Given the description of an element on the screen output the (x, y) to click on. 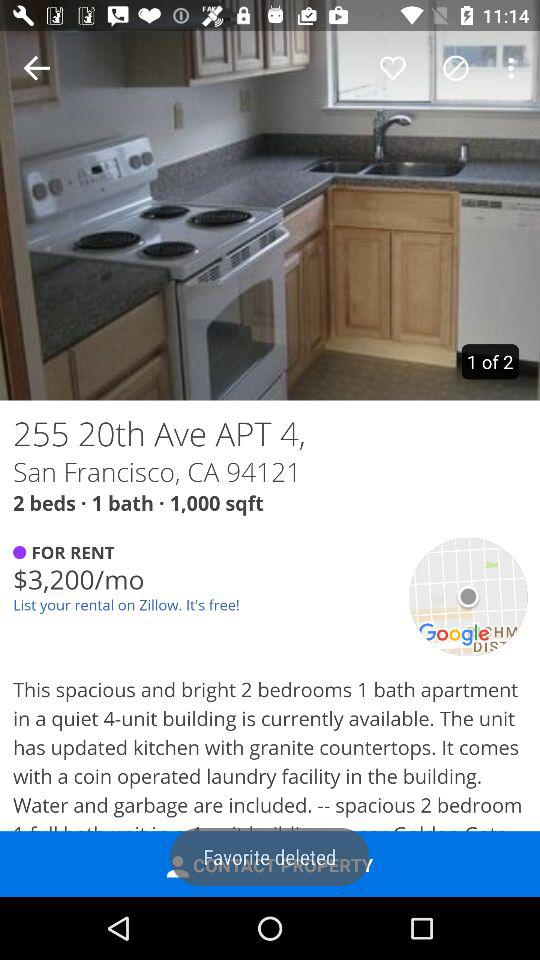
click on like button at top of the page (392, 68)
click on the 3 vertical dots below 1114 (514, 68)
